Given the description of an element on the screen output the (x, y) to click on. 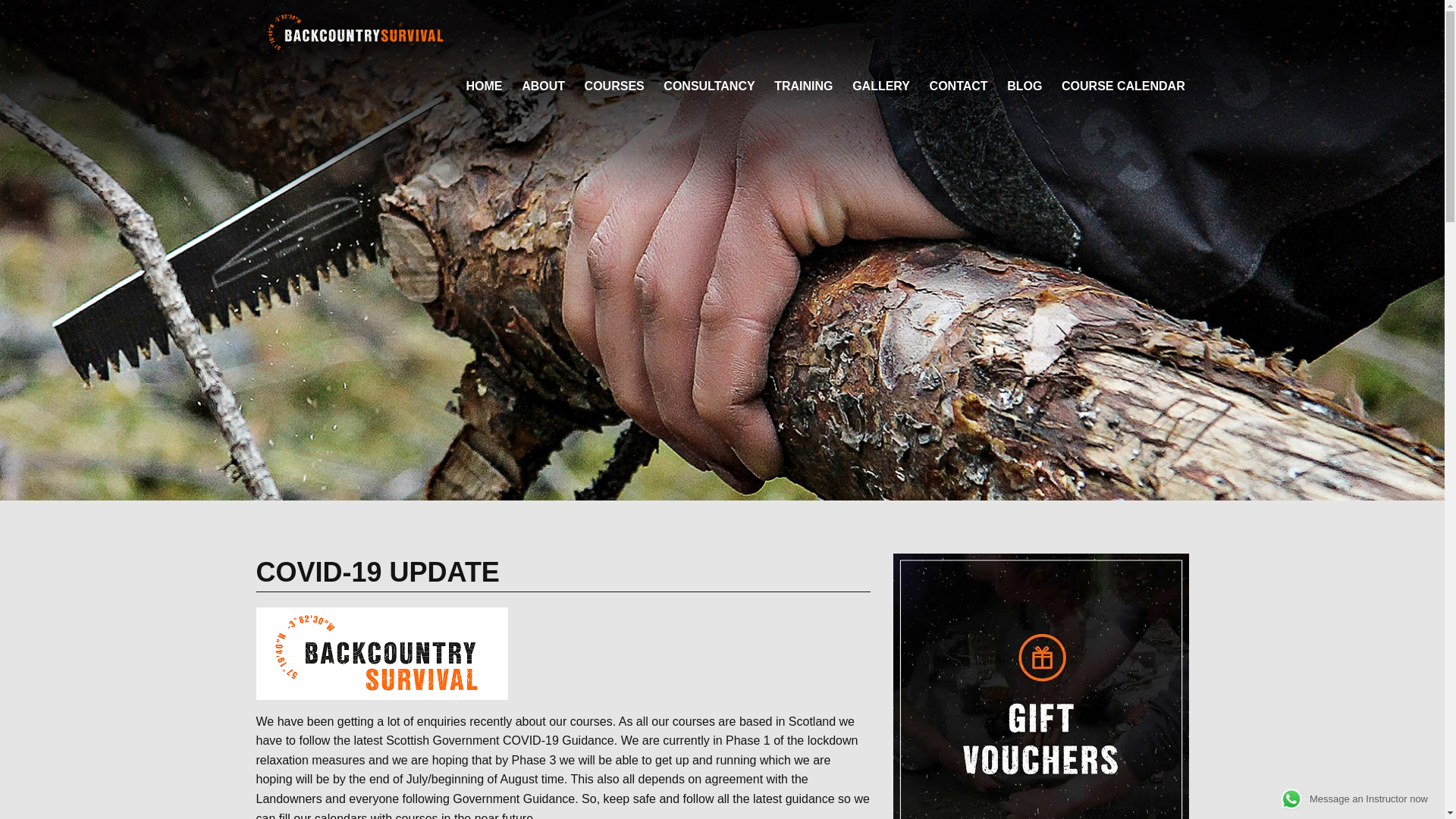
HOME (484, 86)
CONTACT (958, 86)
BLOG (1024, 86)
CONSULTANCY (709, 86)
COURSES (613, 86)
TRAINING (802, 86)
COURSE CALENDAR (1123, 86)
GALLERY (880, 86)
ABOUT (542, 86)
